Given the description of an element on the screen output the (x, y) to click on. 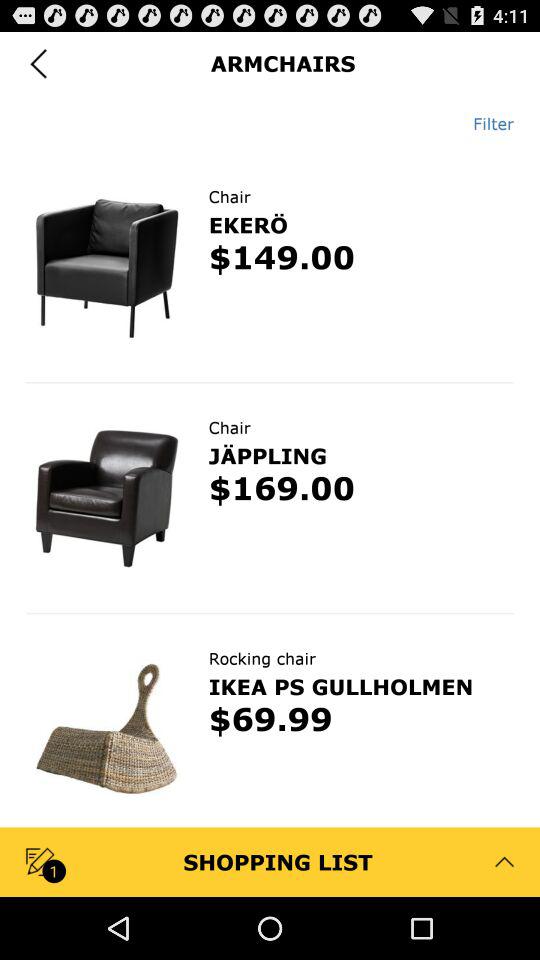
select icon above the shopping list (270, 721)
